Given the description of an element on the screen output the (x, y) to click on. 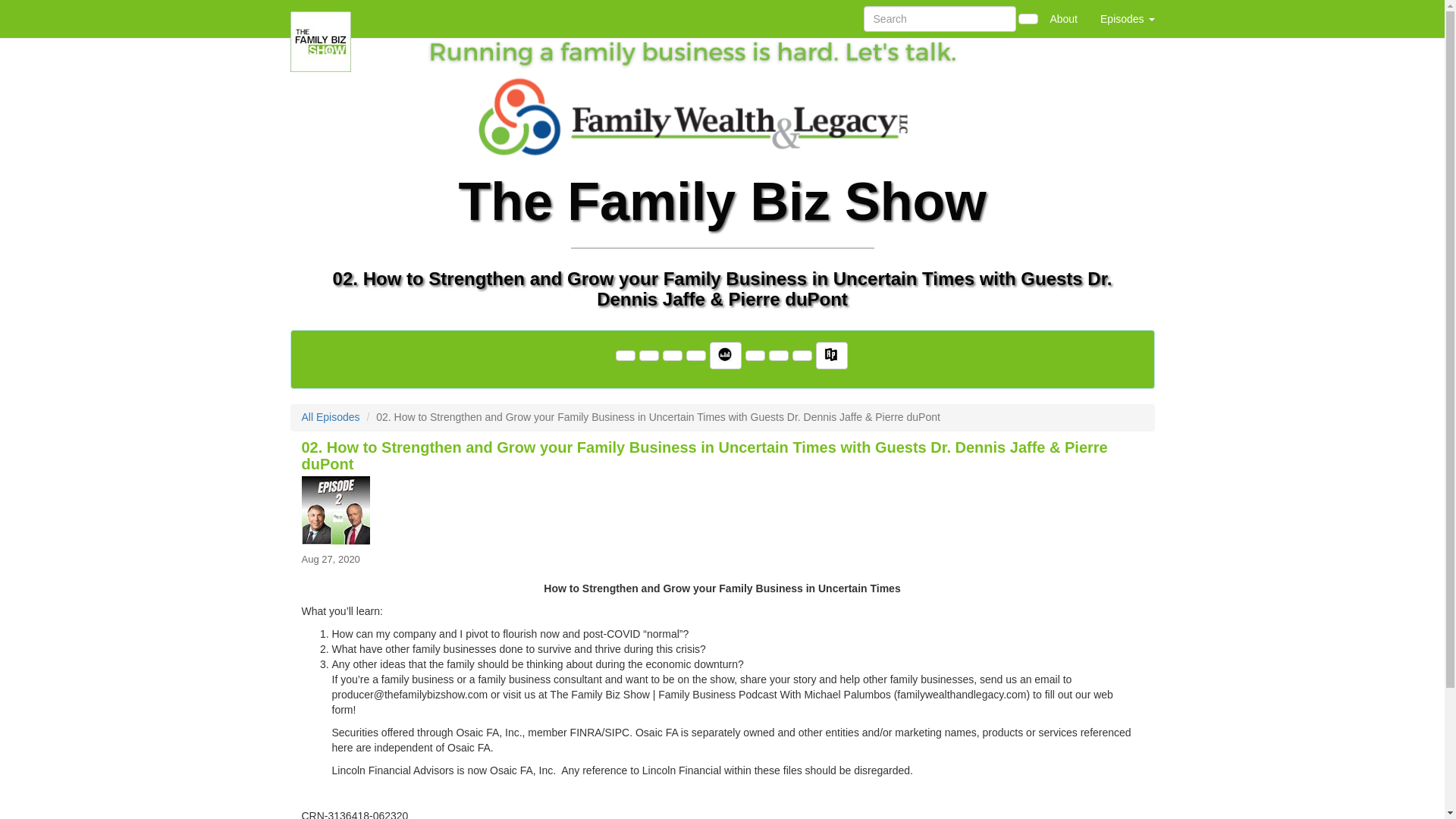
Home Page (320, 18)
About (1063, 18)
Episodes (1127, 18)
